Given the description of an element on the screen output the (x, y) to click on. 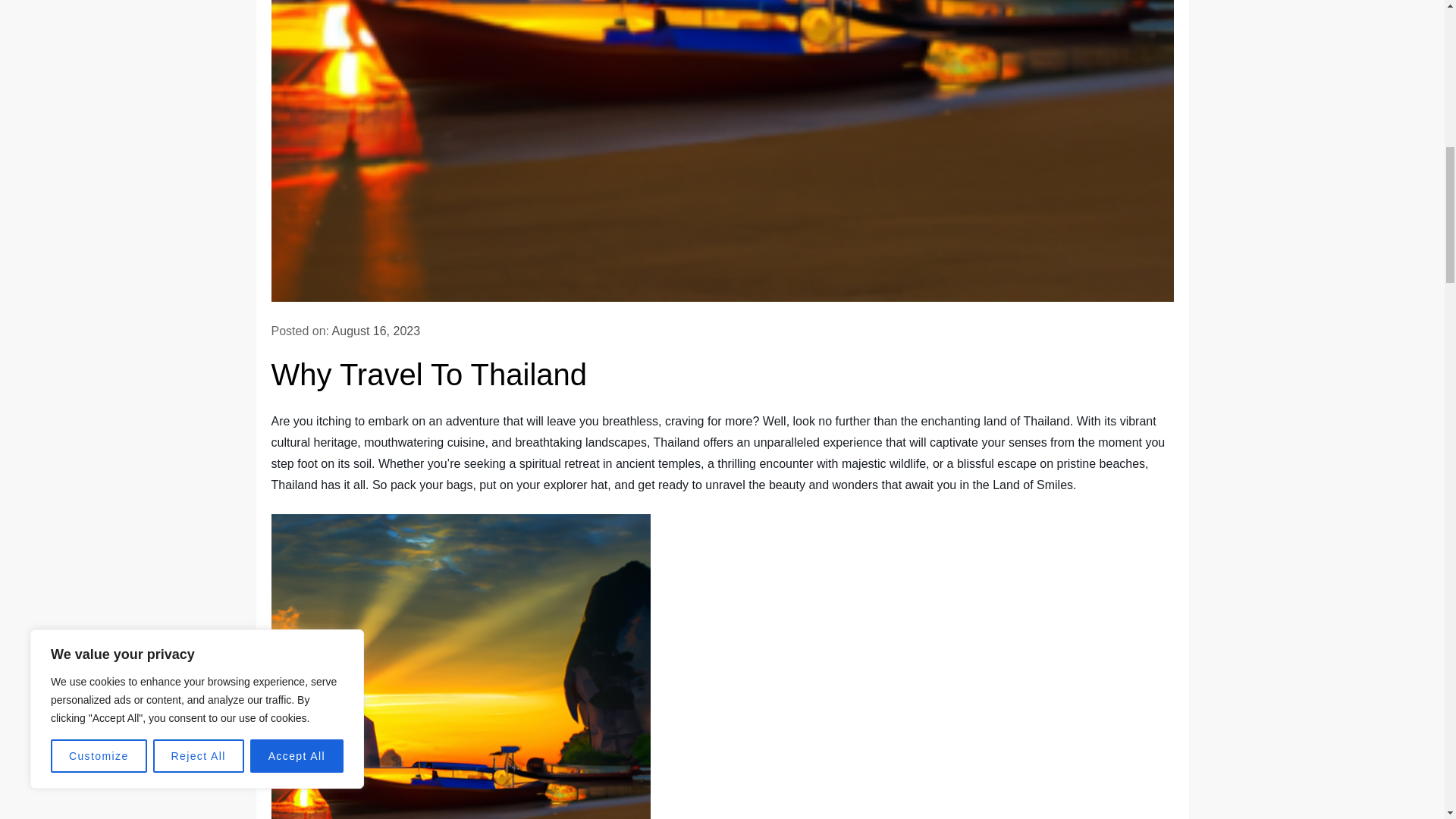
Why Travel To Thailand (460, 666)
August 16, 2023 (375, 330)
